Given the description of an element on the screen output the (x, y) to click on. 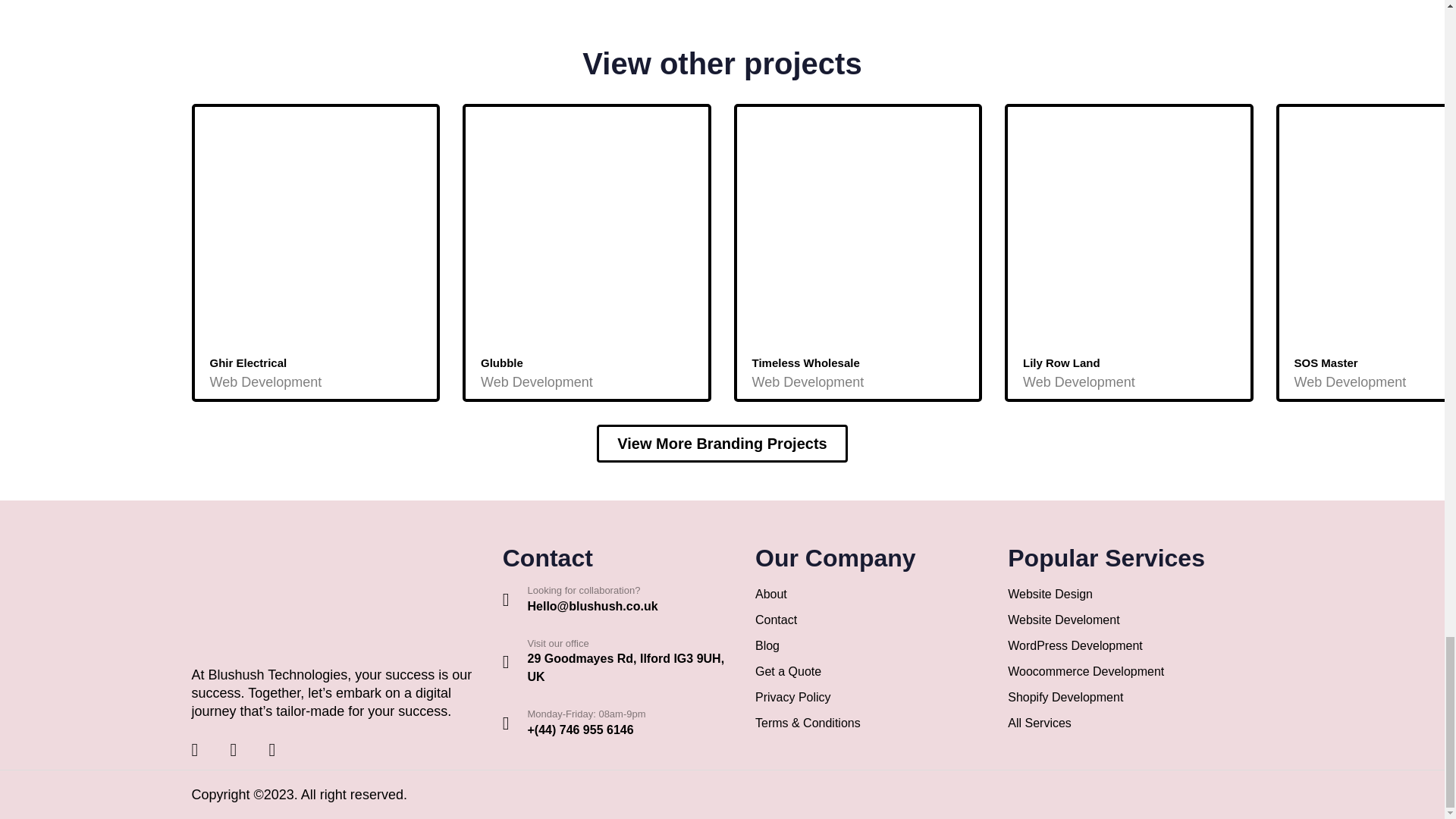
Web Development (265, 381)
Web Development (536, 381)
